Given the description of an element on the screen output the (x, y) to click on. 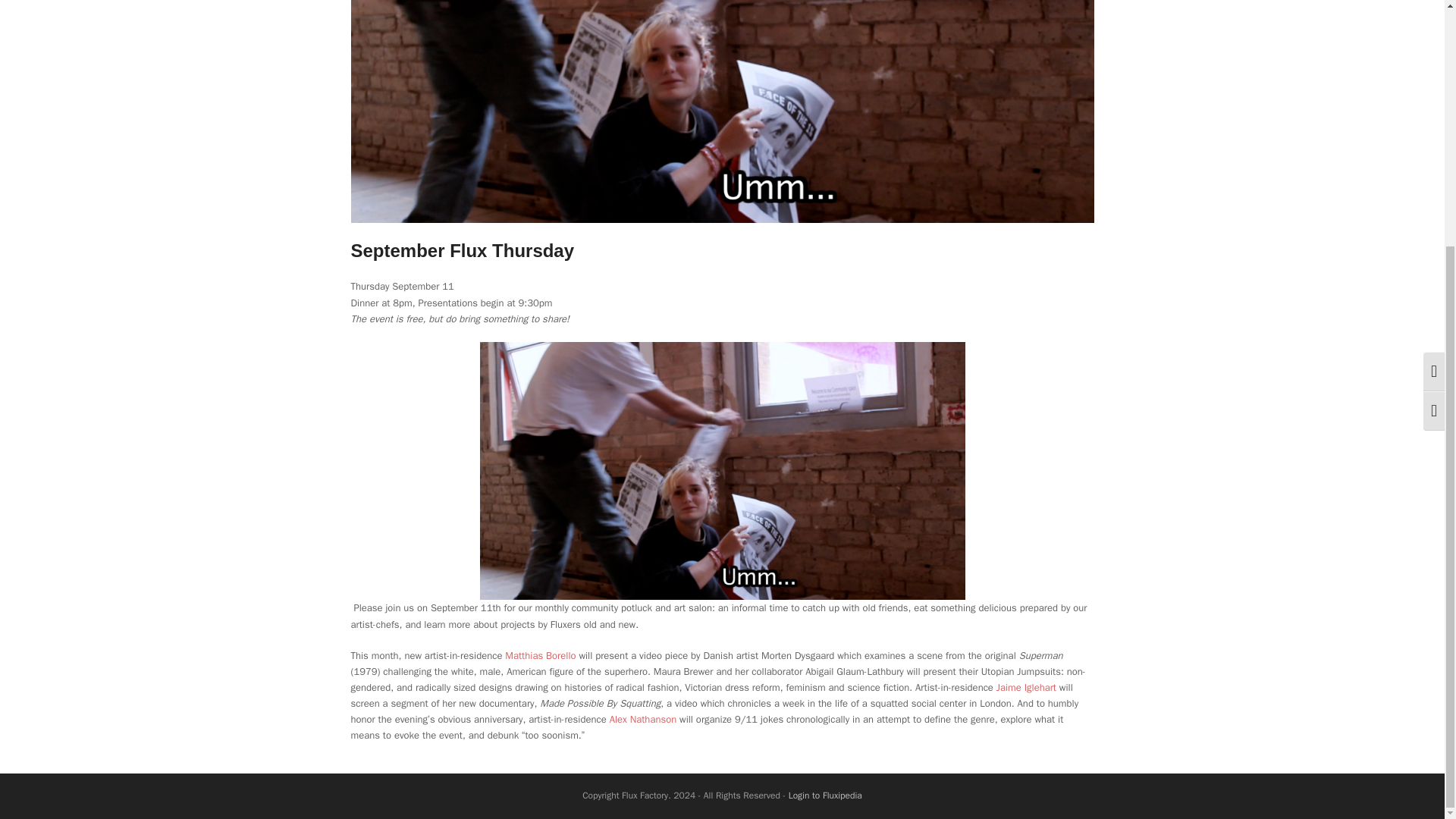
Login to Fluxipedia (825, 795)
Alex Nathanson (643, 718)
Matthias Borello (540, 655)
Jaime Iglehart (1026, 686)
